Given the description of an element on the screen output the (x, y) to click on. 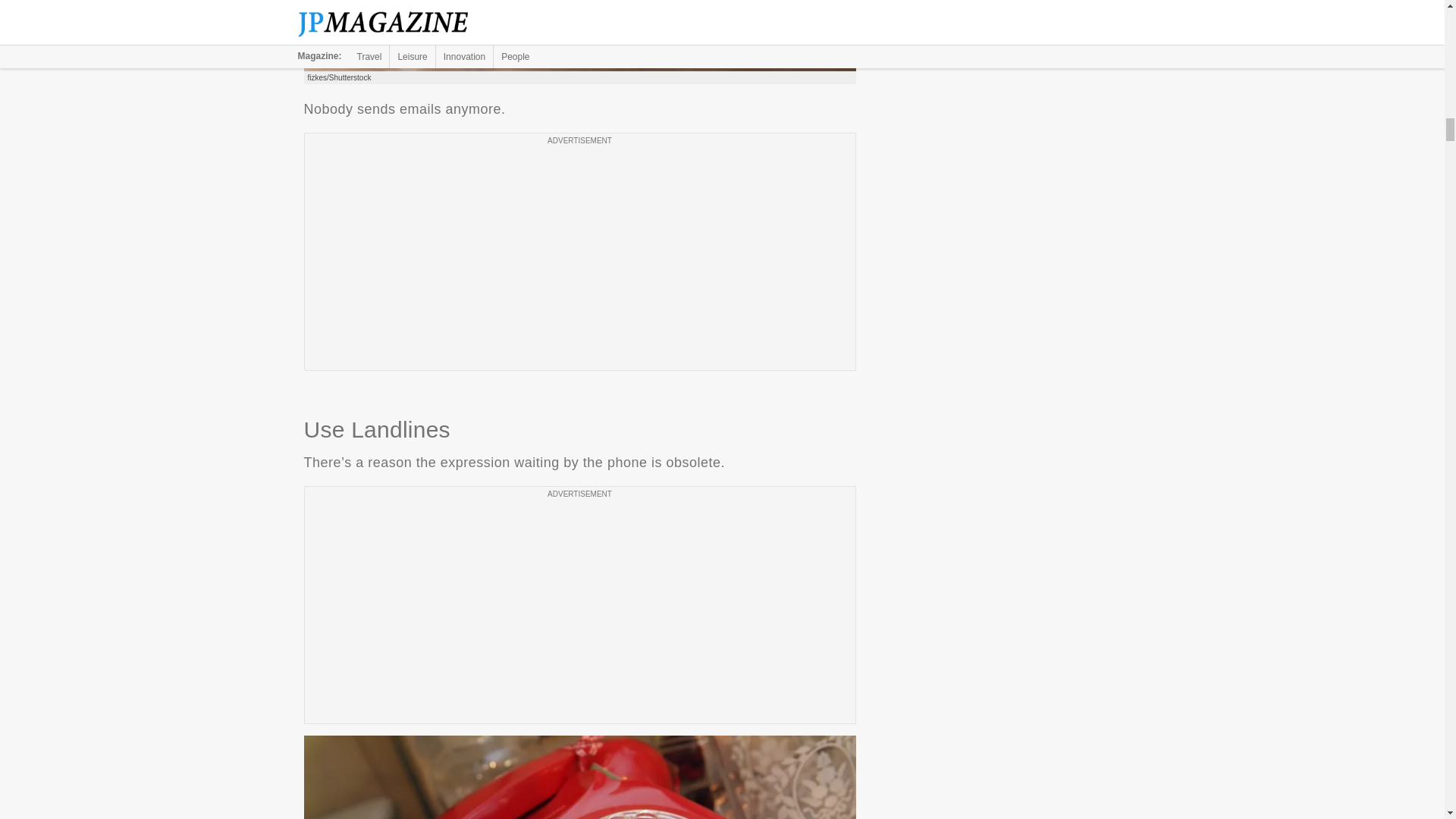
Use Landlines (579, 777)
Send Emails (579, 35)
